Given the description of an element on the screen output the (x, y) to click on. 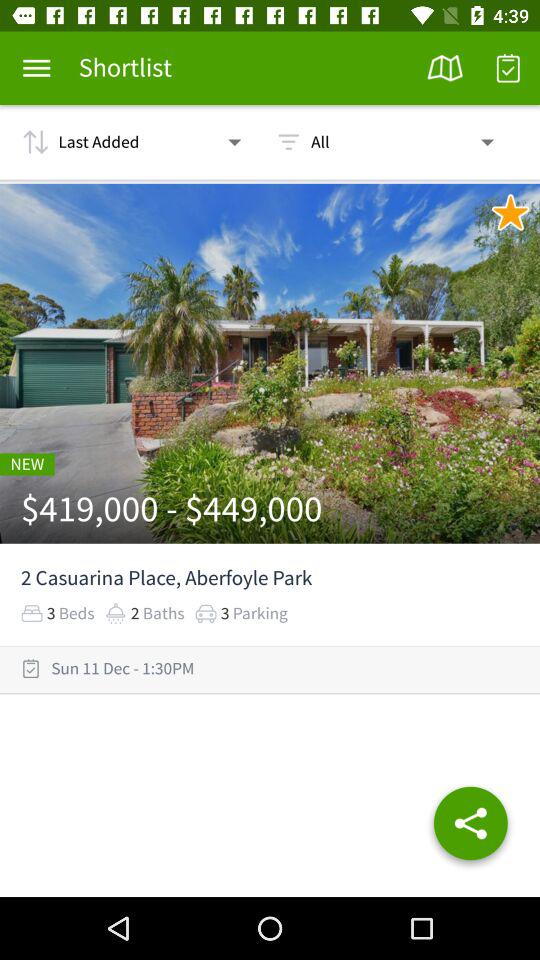
star (510, 212)
